Given the description of an element on the screen output the (x, y) to click on. 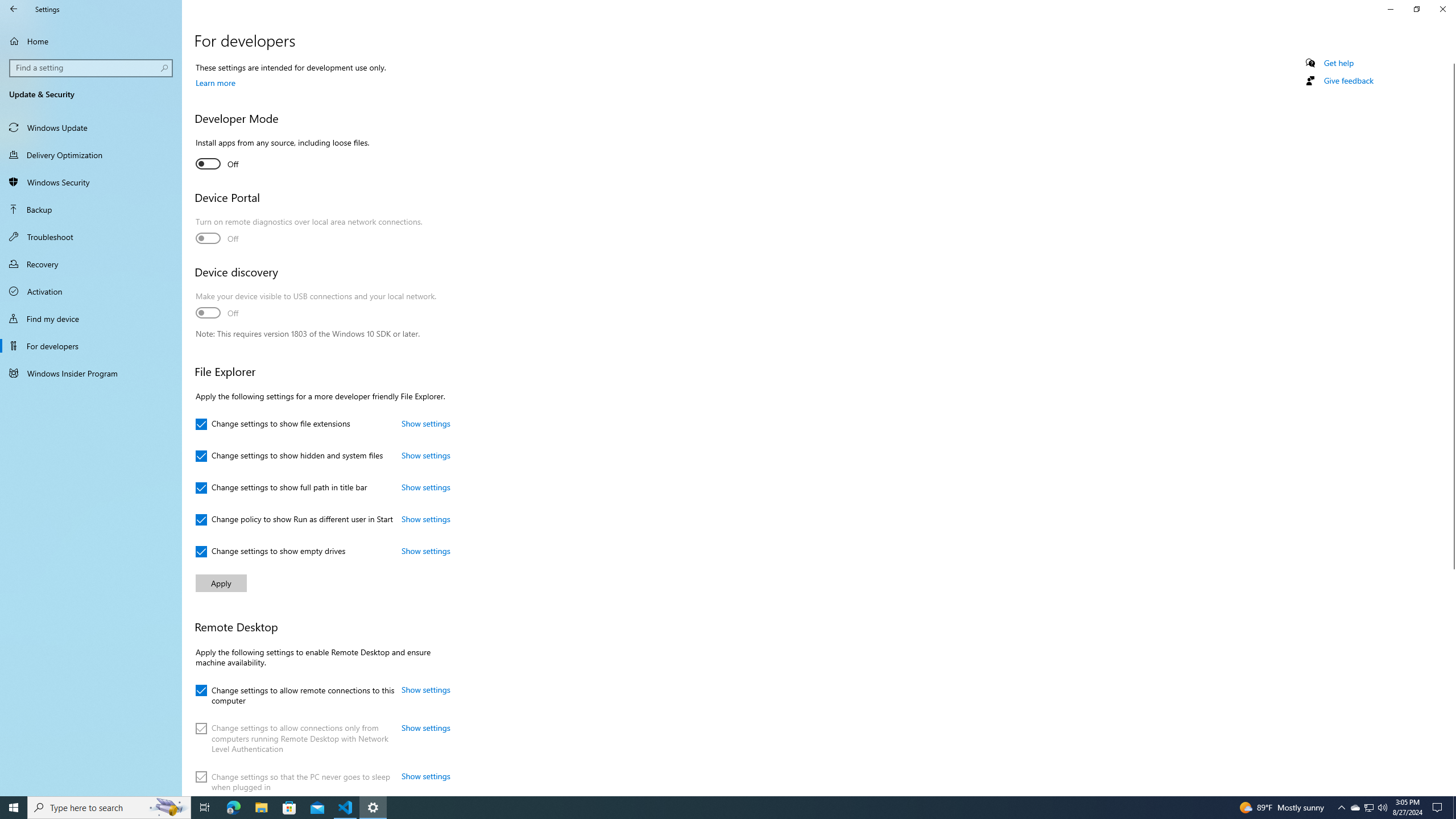
Vertical Small Increase (1451, 791)
Change settings to show file extensions (272, 424)
Vertical Large Increase (1451, 678)
Vertical Small Decrease (1451, 58)
Change policy to show Run as different user in Start (294, 520)
Delivery Optimization (91, 154)
Windows Update (91, 126)
Backup (91, 208)
